Given the description of an element on the screen output the (x, y) to click on. 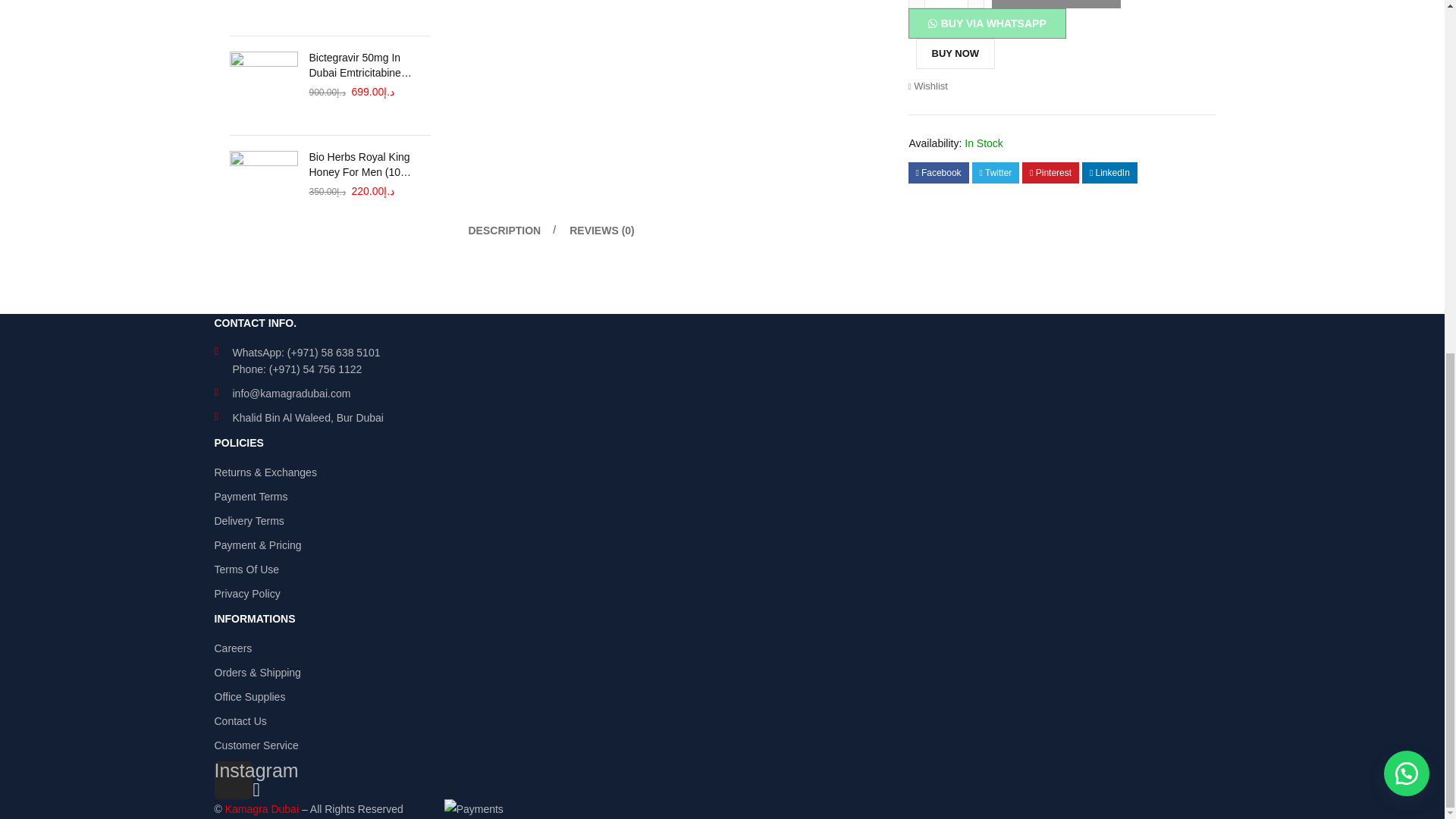
- (916, 4)
1 (945, 3)
Powern Man Herbal Supplement For Men 10 PCS In Dubai (262, 10)
